Given the description of an element on the screen output the (x, y) to click on. 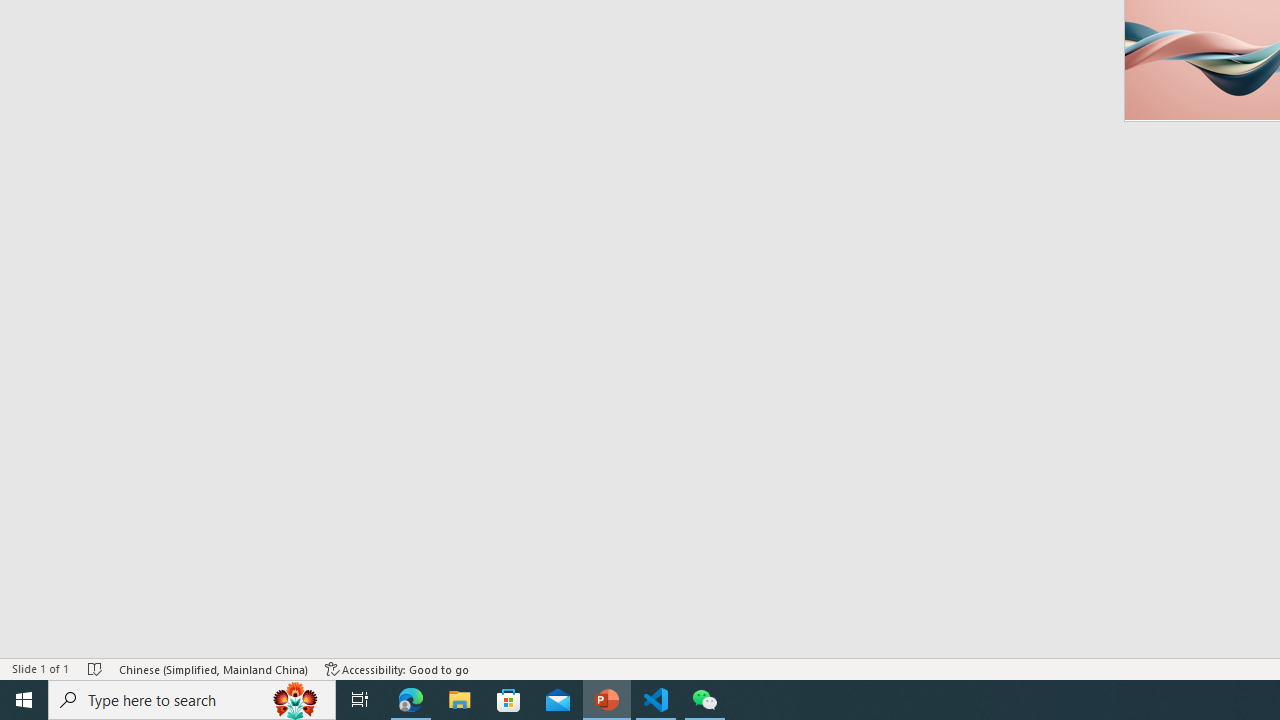
Accessibility Checker Accessibility: Good to go (397, 668)
